Given the description of an element on the screen output the (x, y) to click on. 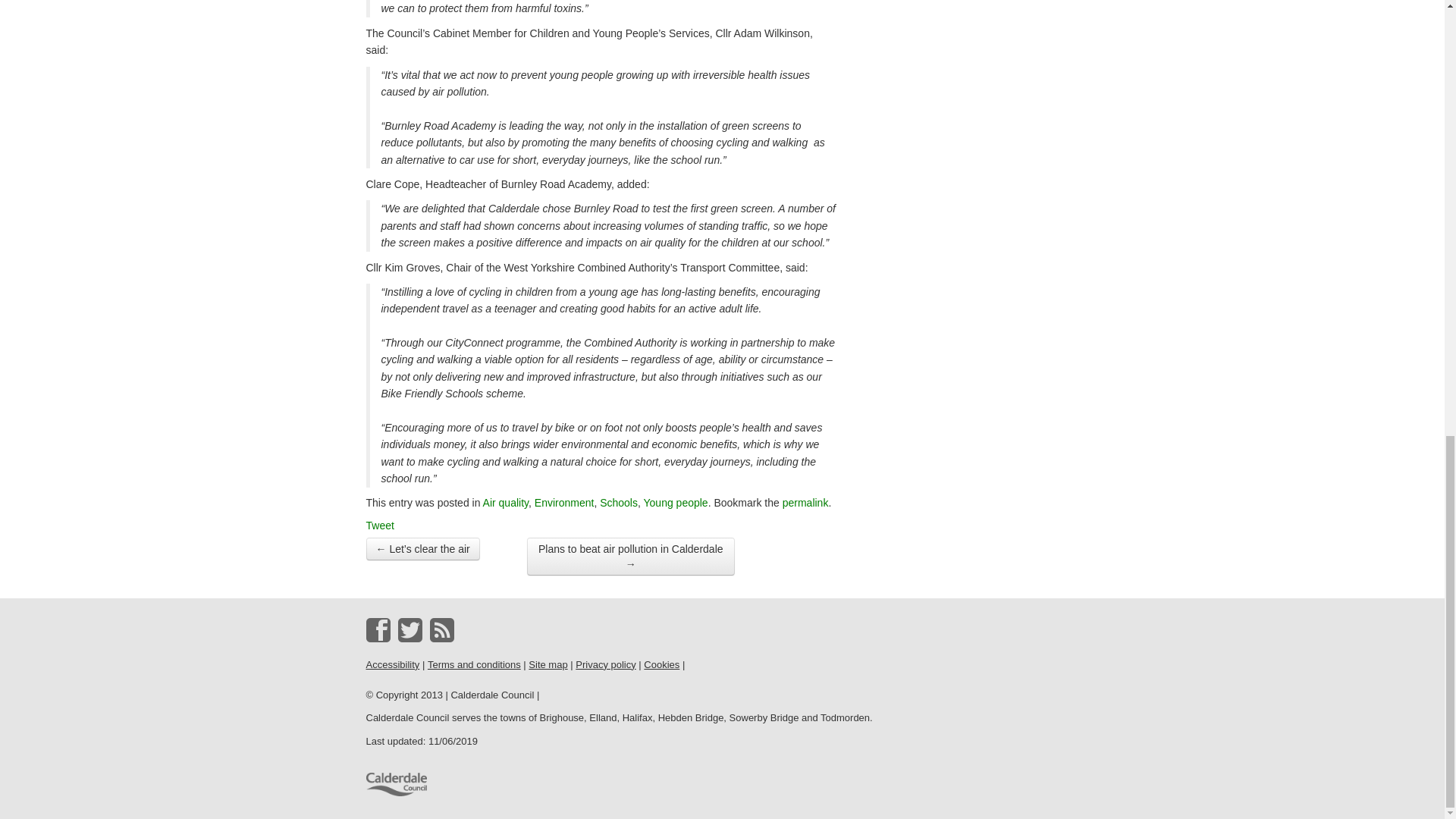
Air quality (505, 502)
Twitter (409, 630)
permalink (805, 502)
Environment (564, 502)
RSS (440, 630)
Schools (618, 502)
Tweet (379, 525)
Young people (675, 502)
Facebook (377, 630)
